Given the description of an element on the screen output the (x, y) to click on. 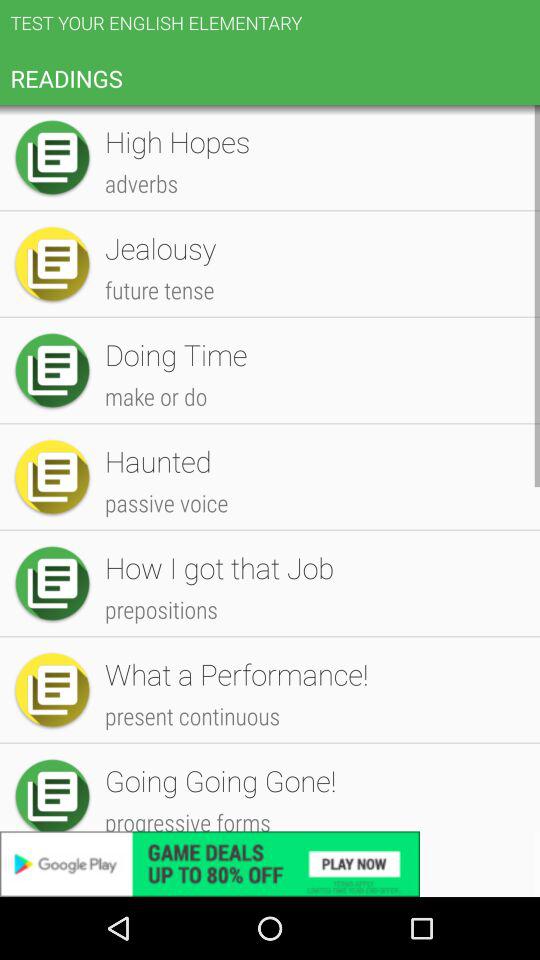
open app above the hangman app (311, 545)
